Given the description of an element on the screen output the (x, y) to click on. 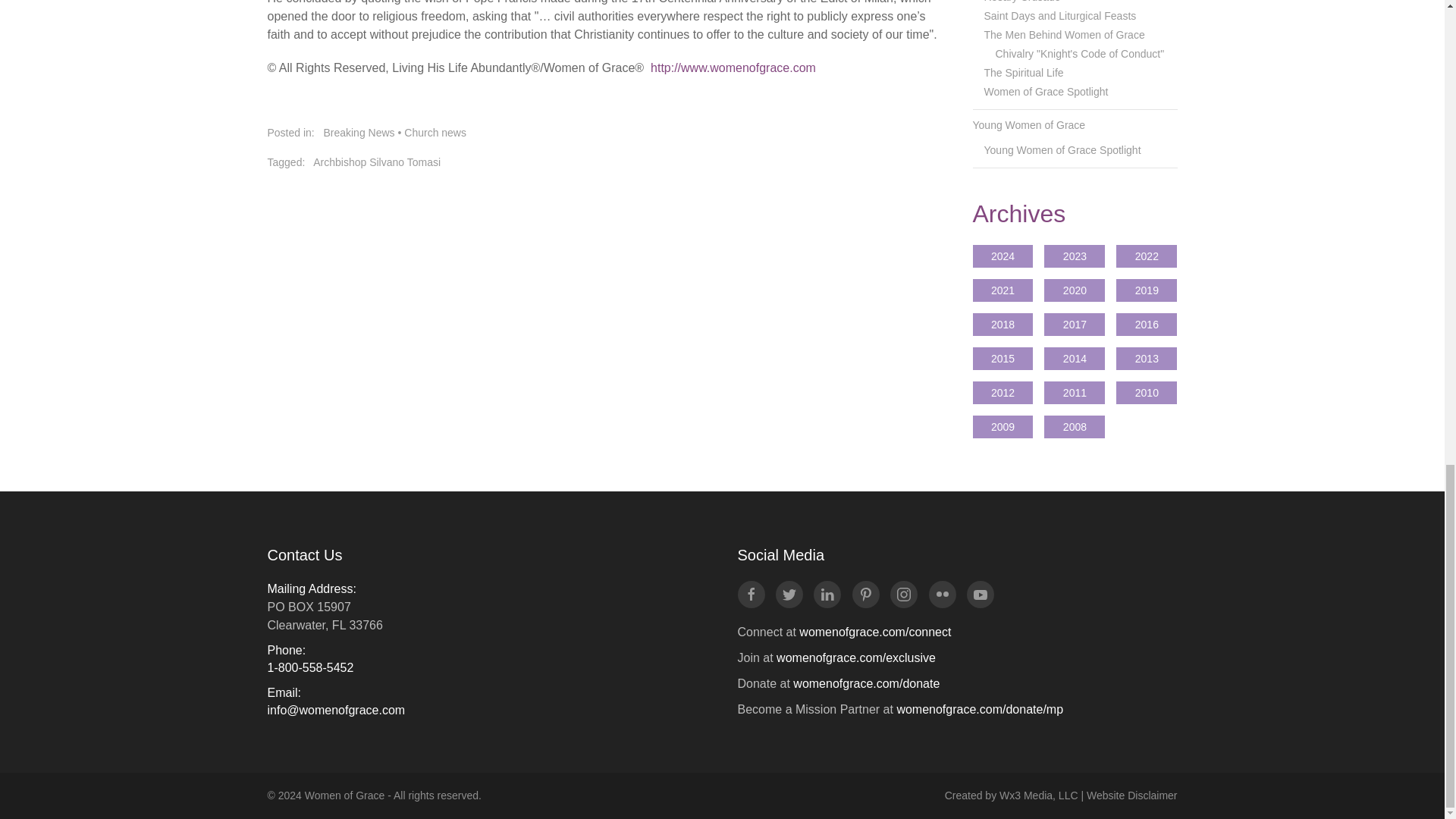
Archbishop Silvano Tomasi (377, 162)
Church news (434, 132)
Breaking News (358, 132)
